Given the description of an element on the screen output the (x, y) to click on. 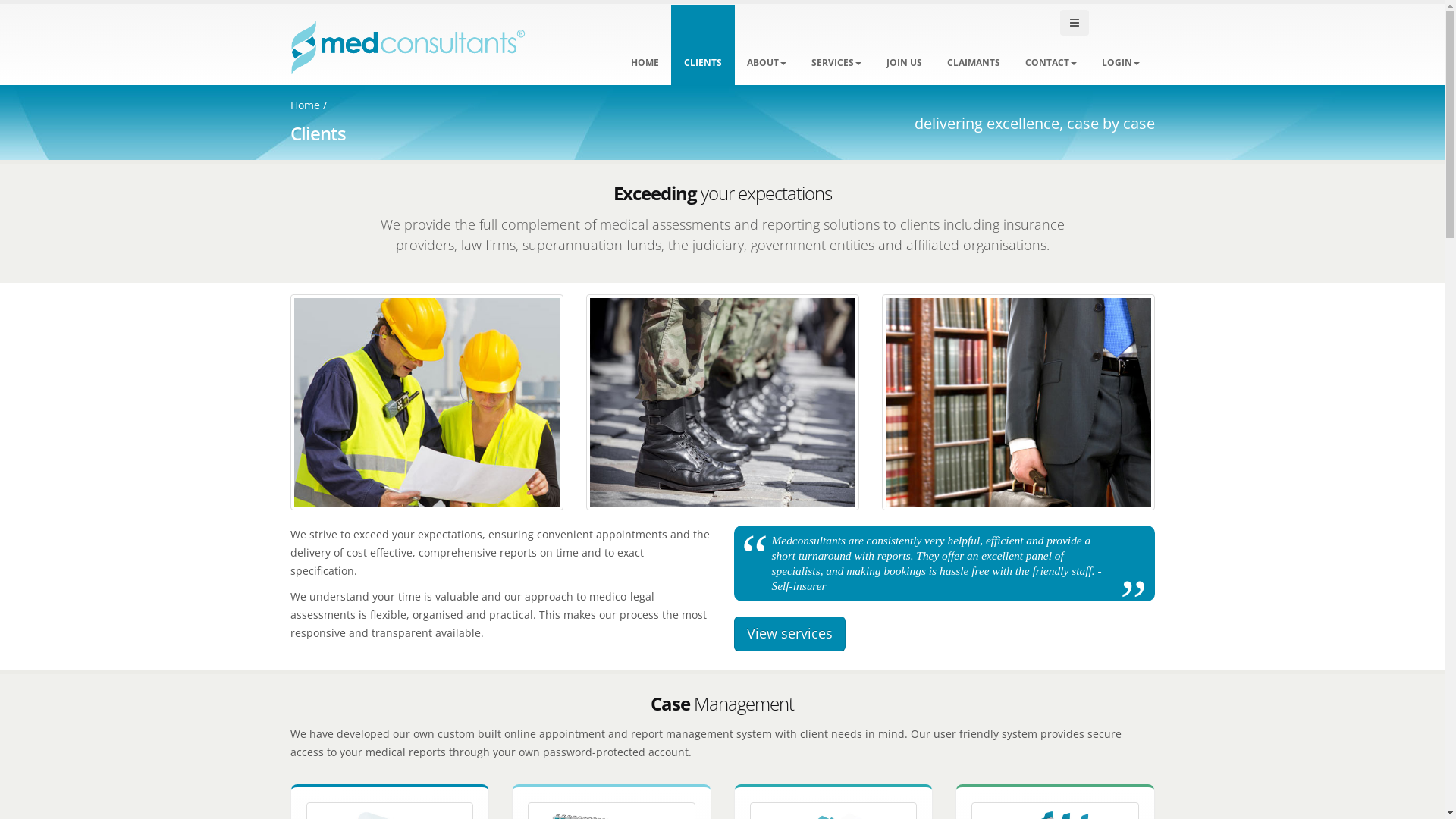
JOIN US Element type: text (904, 44)
ABOUT Element type: text (766, 44)
CONTACT Element type: text (1049, 44)
Home / Element type: text (307, 104)
HOME Element type: text (644, 44)
CLAIMANTS Element type: text (973, 44)
LOGIN Element type: text (1120, 44)
CLIENTS Element type: text (702, 44)
Medconsultants Element type: hover (674, 46)
SERVICES Element type: text (835, 44)
View services Element type: text (789, 633)
